Given the description of an element on the screen output the (x, y) to click on. 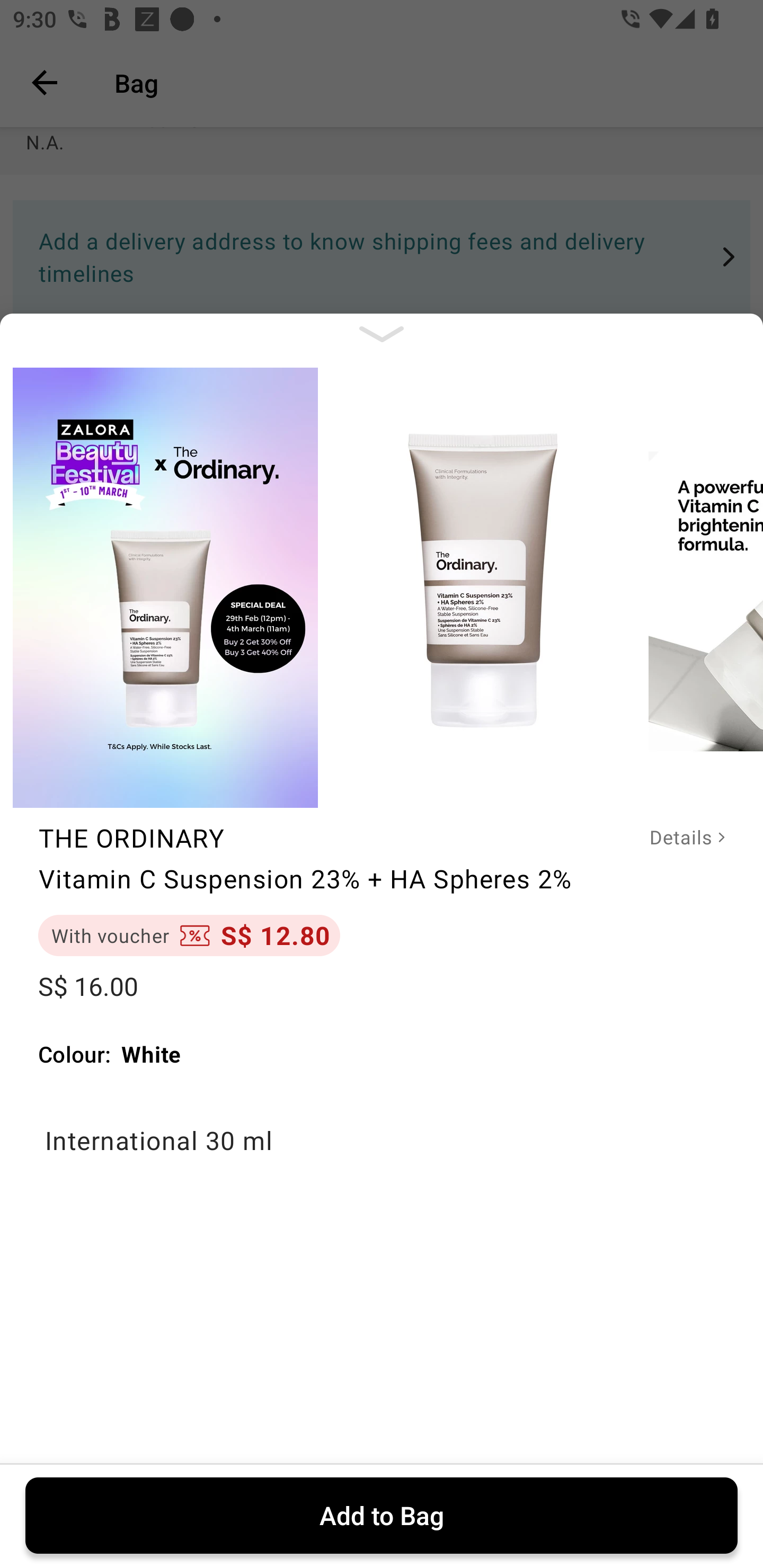
Details (673, 838)
Add to Bag (381, 1515)
